Given the description of an element on the screen output the (x, y) to click on. 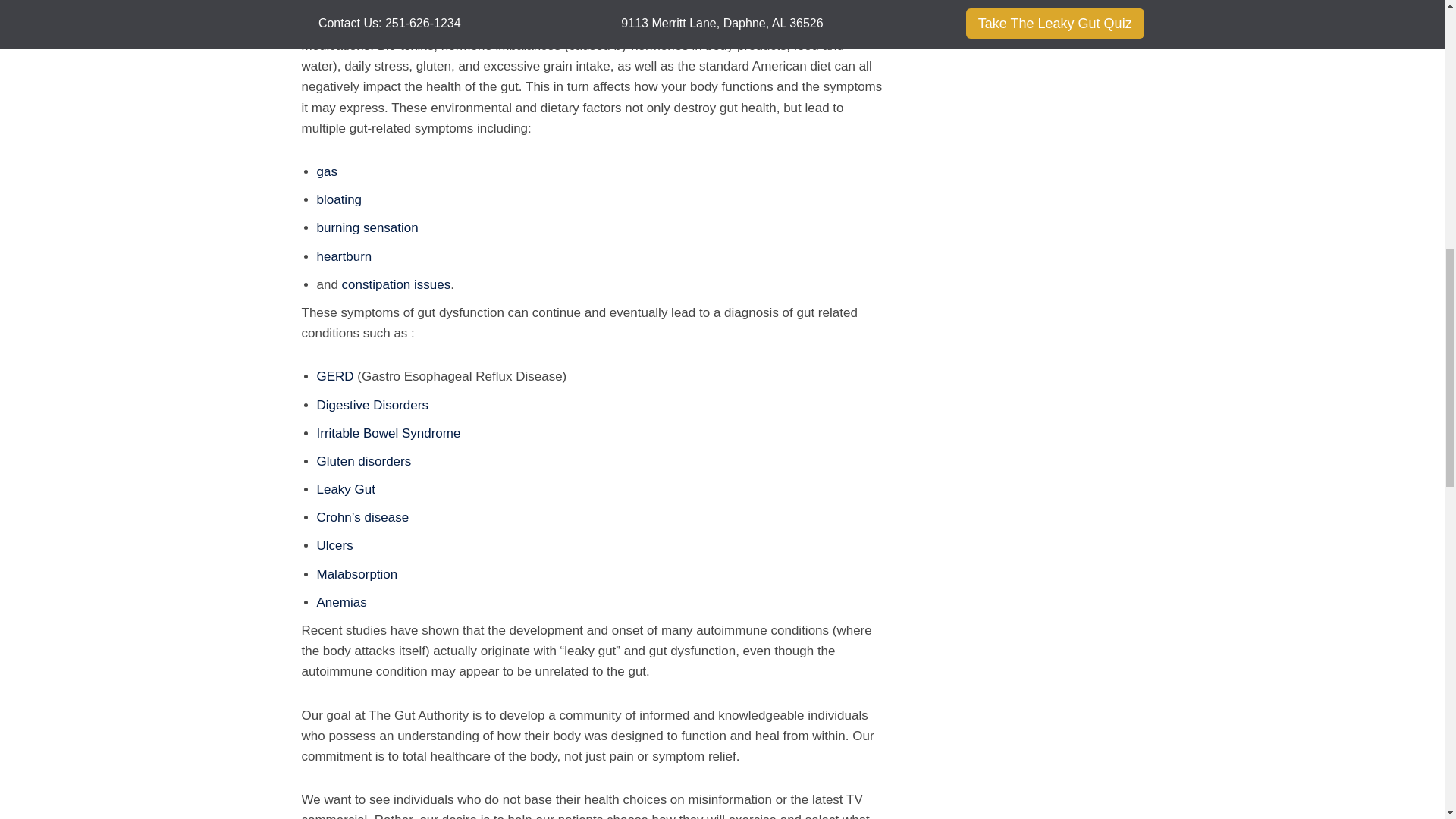
Irritable Bowel Syndrome (389, 432)
Anemias (341, 602)
GERD (335, 376)
Gluten disorders (364, 461)
constipation issues (396, 284)
Digestive Disorders (372, 405)
Leaky Gut (346, 489)
bloating (339, 199)
burning sensation (368, 227)
Malabsorption (357, 574)
Ulcers (335, 545)
heartburn (344, 256)
gas (327, 171)
